Given the description of an element on the screen output the (x, y) to click on. 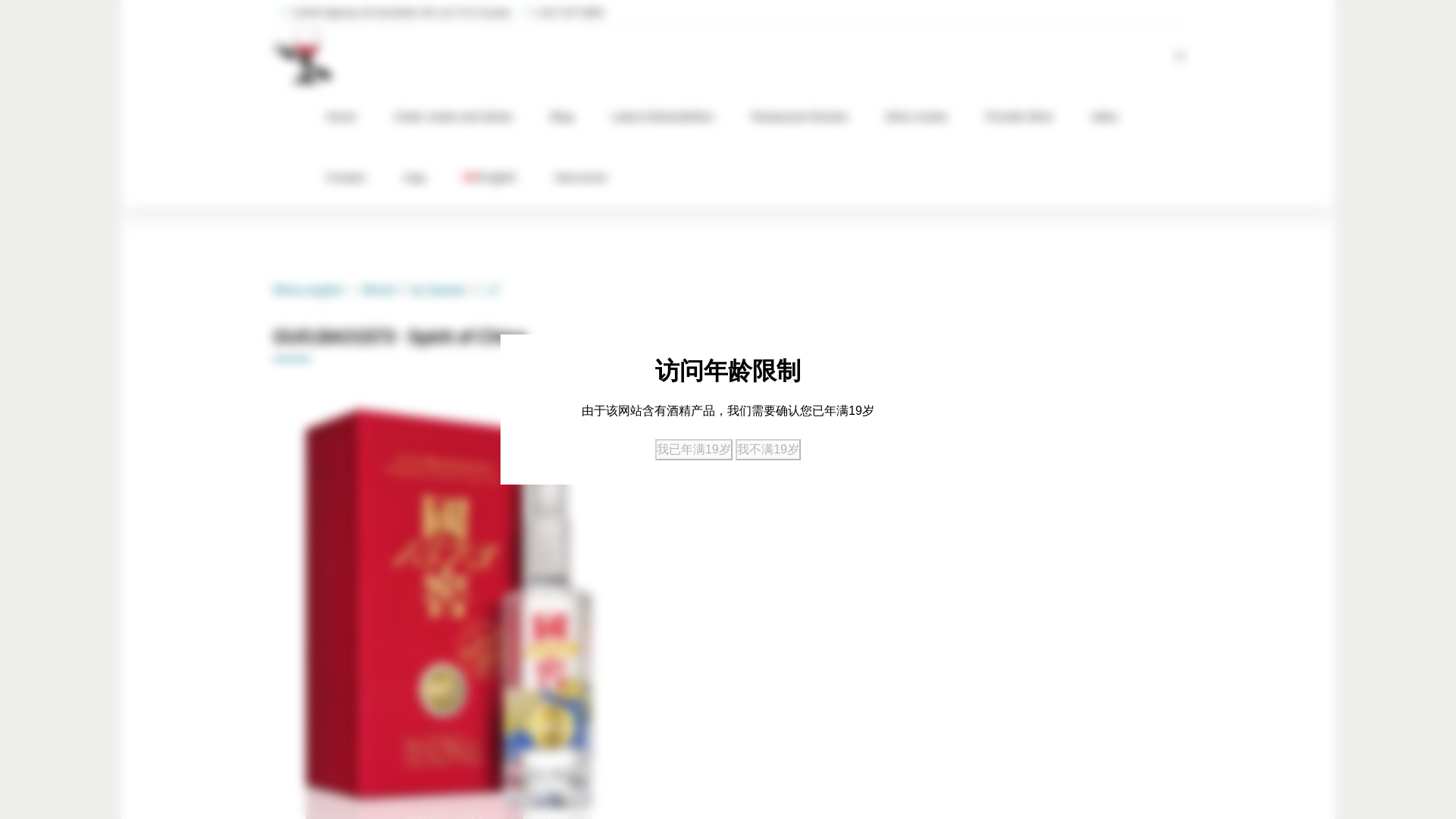
map (414, 177)
0 (490, 289)
by baiwan (438, 289)
video (1104, 116)
Home (341, 116)
English (489, 177)
Order meals and drinks (452, 116)
Vancouver (580, 177)
Wine3 (368, 289)
Wine review (916, 116)
Provide Wine (1018, 116)
Blog (561, 116)
Wine-english (307, 289)
Contact (345, 177)
Restaurant Review (799, 116)
